Given the description of an element on the screen output the (x, y) to click on. 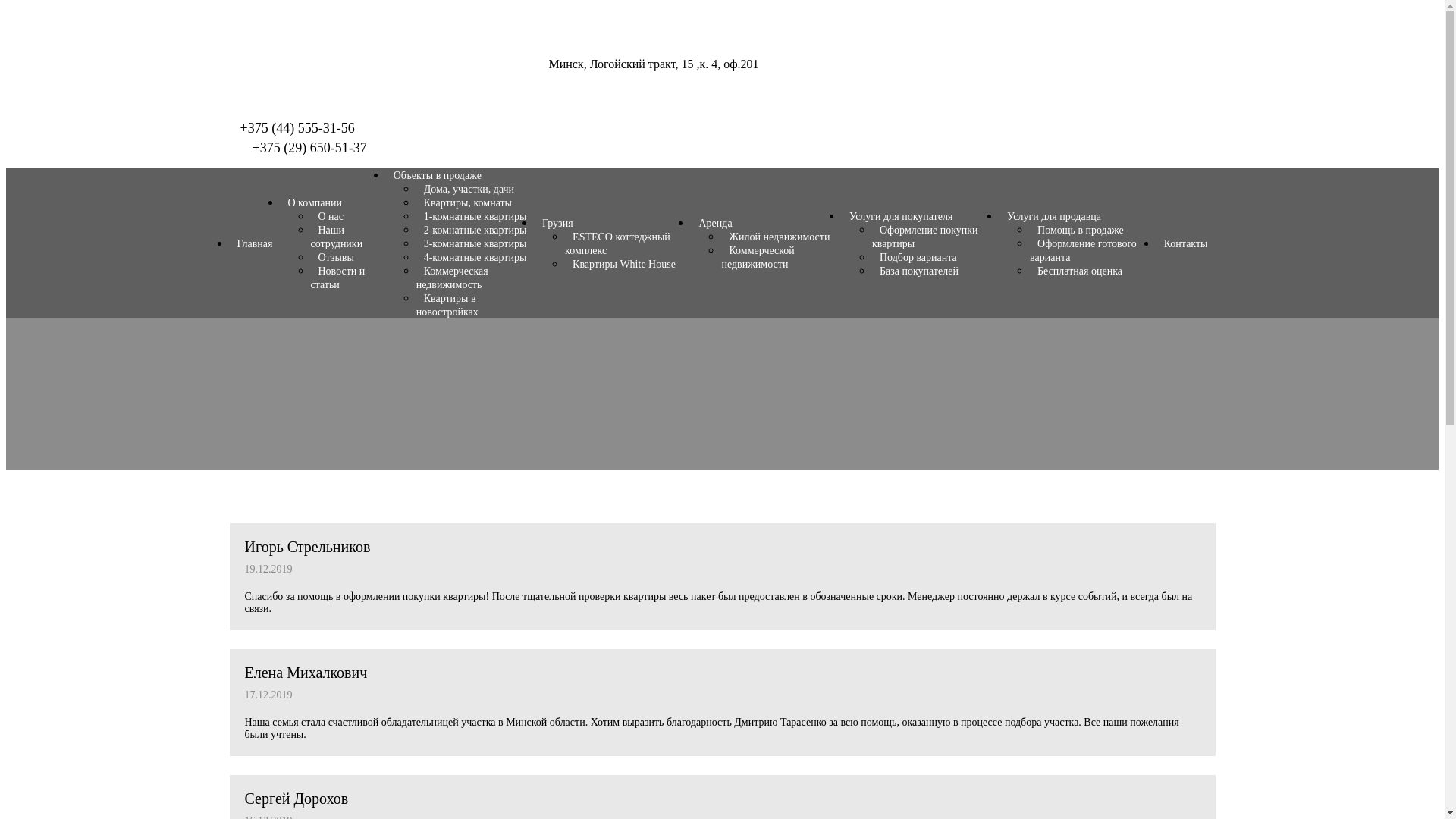
+375 (29) 650-51-37 Element type: text (308, 146)
Skip to content Element type: text (5, 5)
+375 (44) 555-31-56 Element type: text (296, 126)
